Given the description of an element on the screen output the (x, y) to click on. 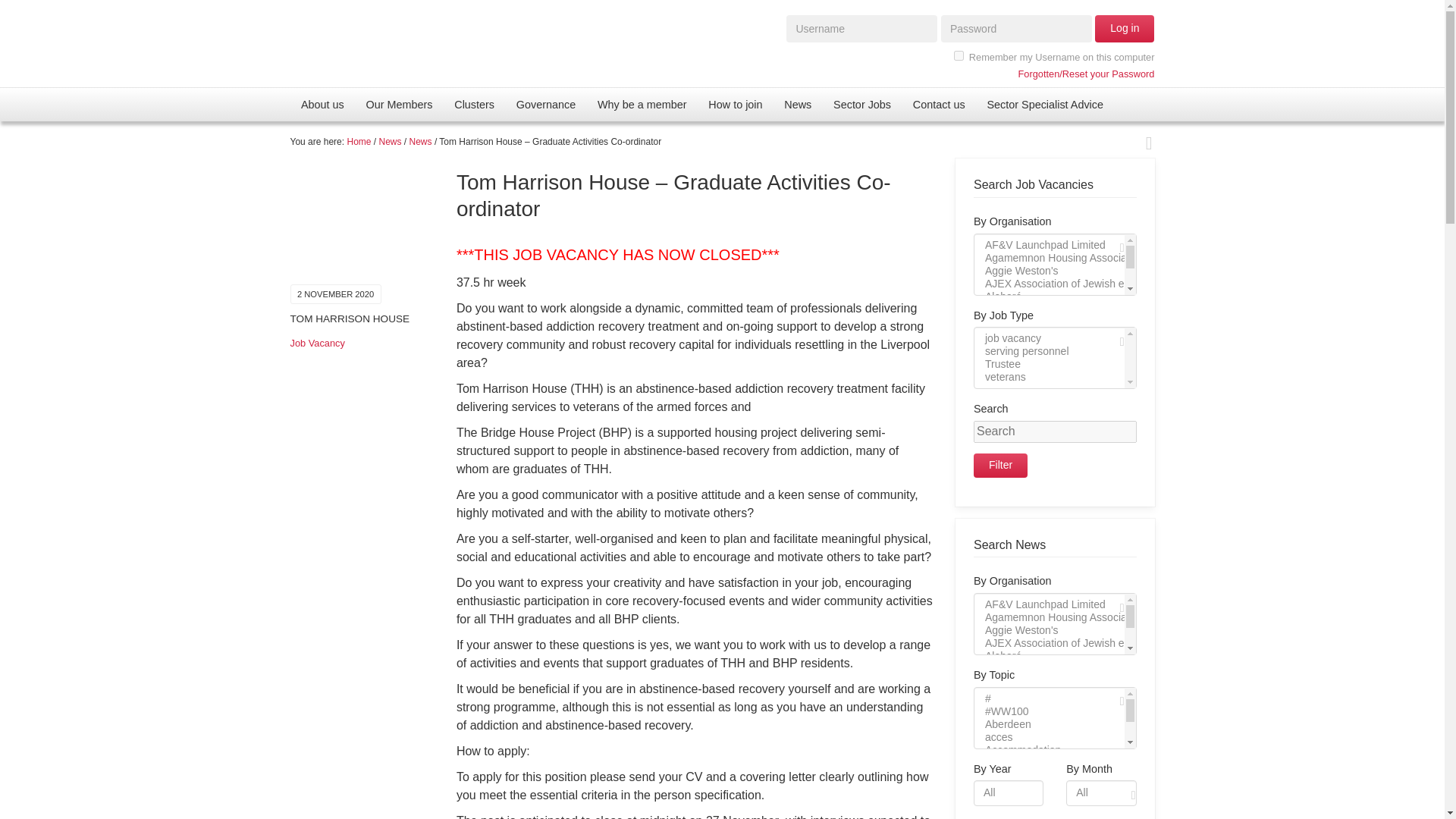
Governance (545, 104)
forever (958, 55)
Filter (1000, 465)
Log in (1124, 28)
Sector Specialist Advice (1044, 104)
Our Members (399, 104)
About us (322, 104)
Clusters (474, 104)
Contact us (938, 104)
Sector Jobs (862, 104)
